Given the description of an element on the screen output the (x, y) to click on. 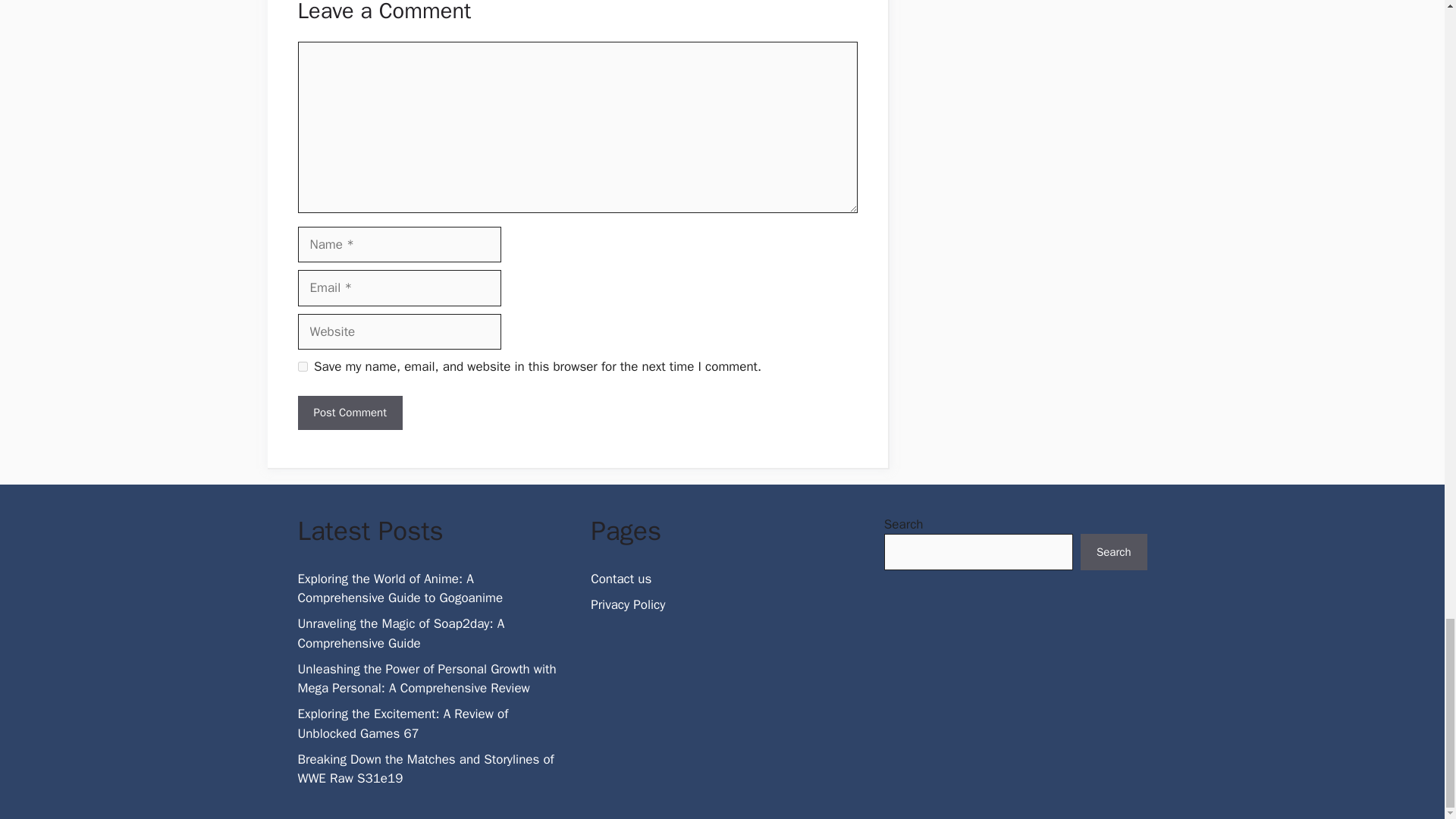
Post Comment (349, 412)
Post Comment (349, 412)
Search (1113, 551)
yes (302, 366)
Privacy Policy (628, 604)
Exploring the Excitement: A Review of Unblocked Games 67 (402, 723)
Contact us (620, 578)
Unraveling the Magic of Soap2day: A Comprehensive Guide (400, 633)
